Given the description of an element on the screen output the (x, y) to click on. 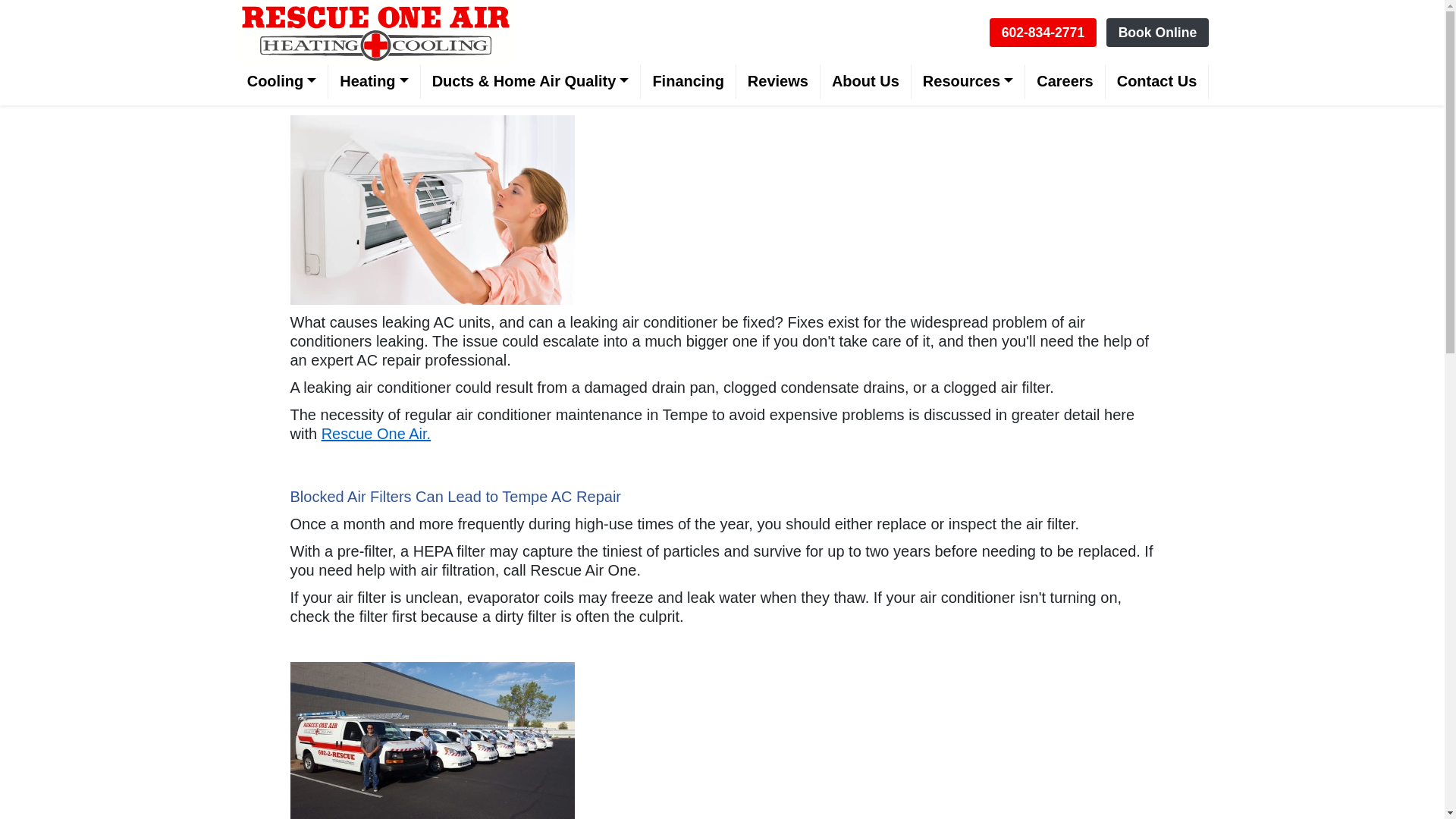
Resources (968, 81)
Careers (1065, 81)
Contact Us (1157, 81)
Reviews (778, 81)
Book Online (1157, 30)
Cooling (282, 81)
602-834-2771 (1043, 30)
Financing (687, 81)
Heating (374, 81)
About Us (866, 81)
